Given the description of an element on the screen output the (x, y) to click on. 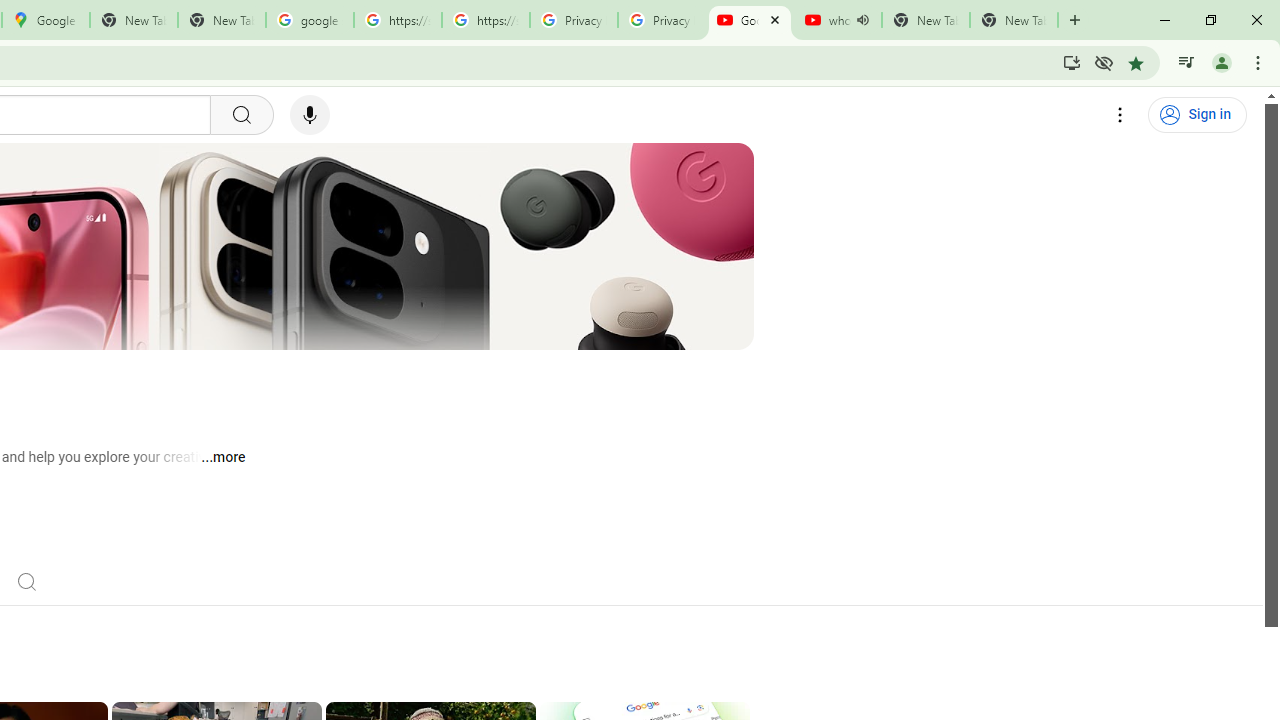
Search with your voice (309, 115)
Search (26, 580)
Bookmark this tab (1135, 62)
Third-party cookies blocked (1103, 62)
Close (774, 19)
Google - YouTube (749, 20)
Install YouTube (1071, 62)
New Tab (1075, 20)
https://scholar.google.com/ (485, 20)
Sign in (1197, 115)
You (1221, 62)
Control your music, videos, and more (1185, 62)
